Given the description of an element on the screen output the (x, y) to click on. 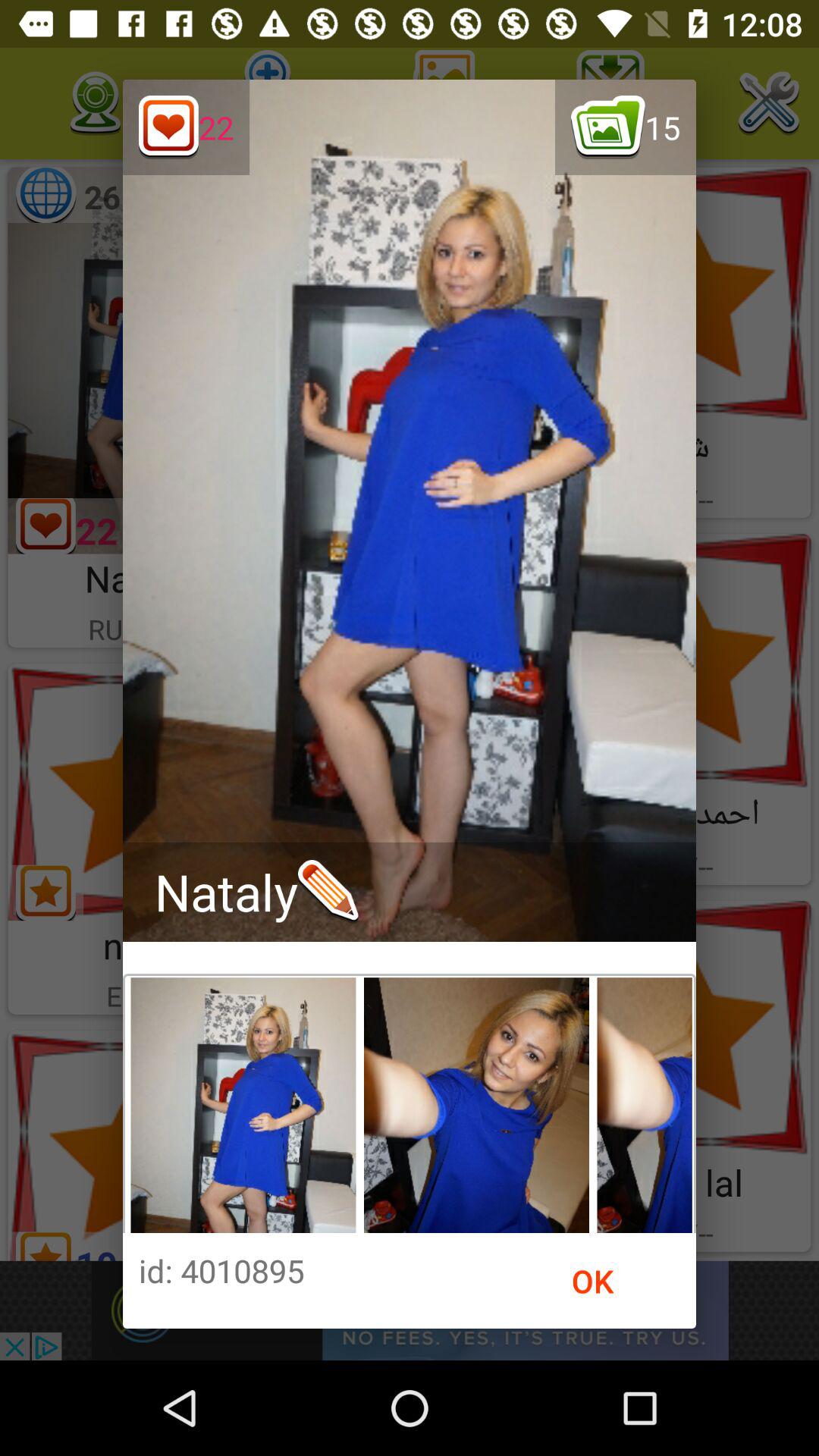
swipe to ok item (592, 1280)
